Given the description of an element on the screen output the (x, y) to click on. 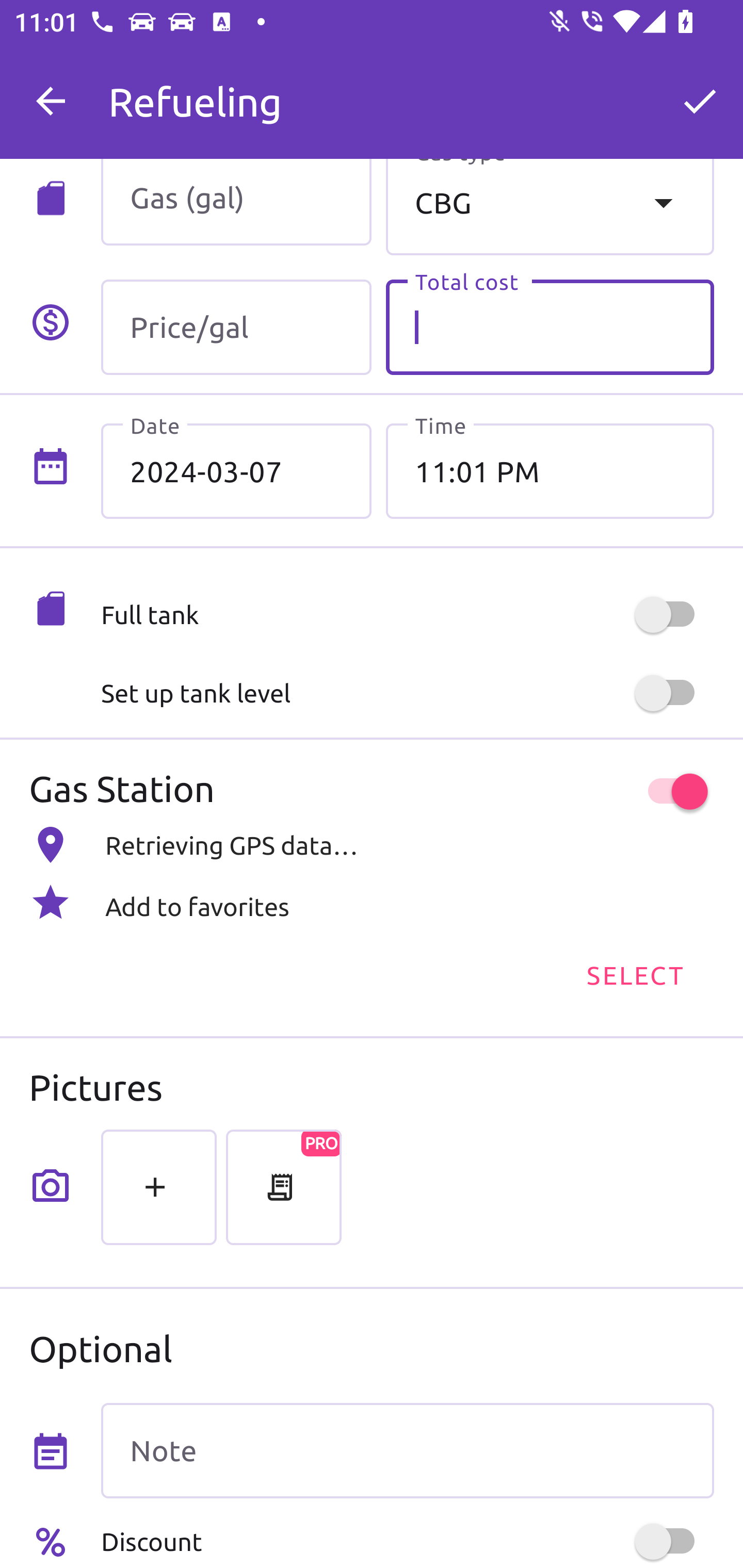
M My Car 0 km (407, 92)
Navigate up (50, 101)
OK (699, 101)
Gas (gal) (236, 202)
CBG (549, 206)
Price/gal (236, 326)
Total cost  (549, 326)
2024-03-07 (236, 471)
11:01 PM (549, 471)
Full tank (407, 614)
Set up tank level (407, 692)
Add to favorites (371, 902)
SELECT (634, 974)
Note (407, 1451)
Discount (407, 1541)
